Given the description of an element on the screen output the (x, y) to click on. 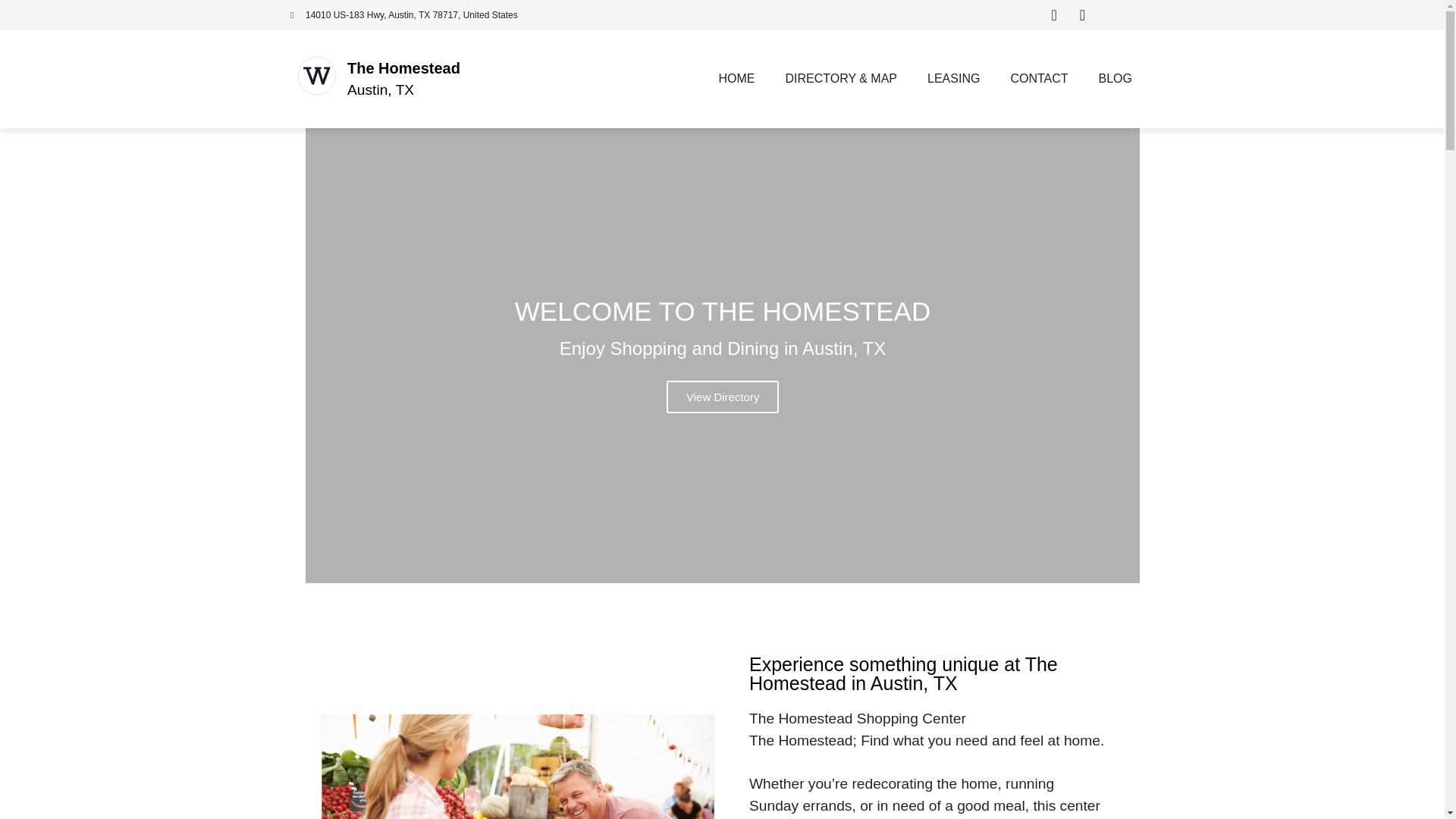
The Homestead (403, 67)
HOME (736, 78)
LEASING (953, 78)
Home 1 (517, 766)
CONTACT (1038, 78)
BLOG (1115, 78)
View Directory (721, 396)
